Given the description of an element on the screen output the (x, y) to click on. 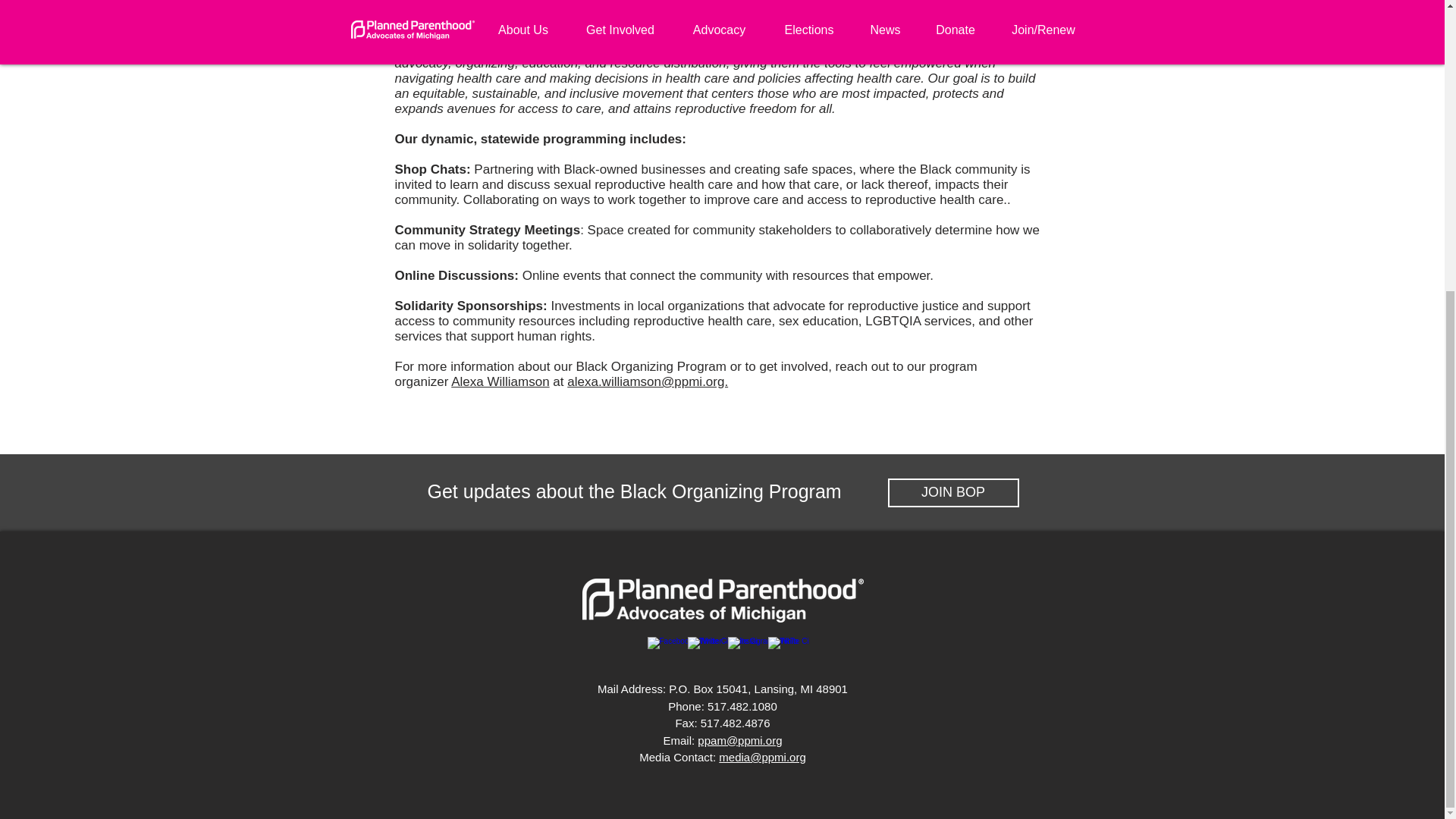
JOIN BOP (951, 492)
Alexa Williamson (499, 381)
